Given the description of an element on the screen output the (x, y) to click on. 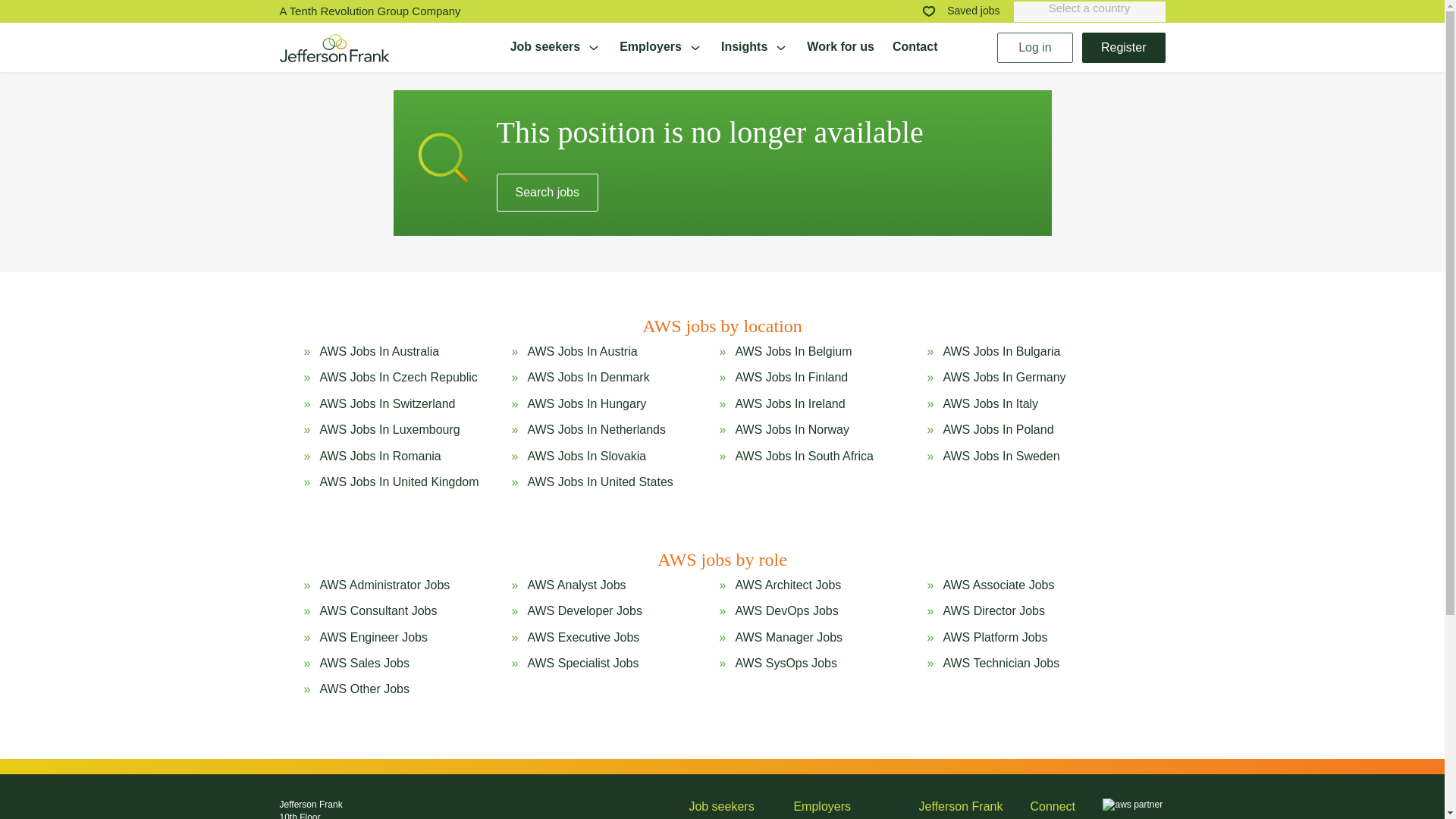
AWS Jobs In Austria (582, 351)
AWS Jobs In Czech Republic (397, 377)
AWS Jobs In Hungary (586, 403)
AWS Jobs In Denmark (588, 377)
Register (1123, 46)
AWS Jobs In Ireland (789, 403)
AWS Jobs In Australia (378, 351)
AWS Jobs In Luxembourg (389, 429)
Job seekers (556, 47)
Select a country (1088, 8)
Employers (661, 47)
Jefferson Frank (333, 47)
AWS Jobs In Bulgaria (1000, 351)
Work for us (840, 47)
AWS Jobs In Belgium (793, 351)
